Given the description of an element on the screen output the (x, y) to click on. 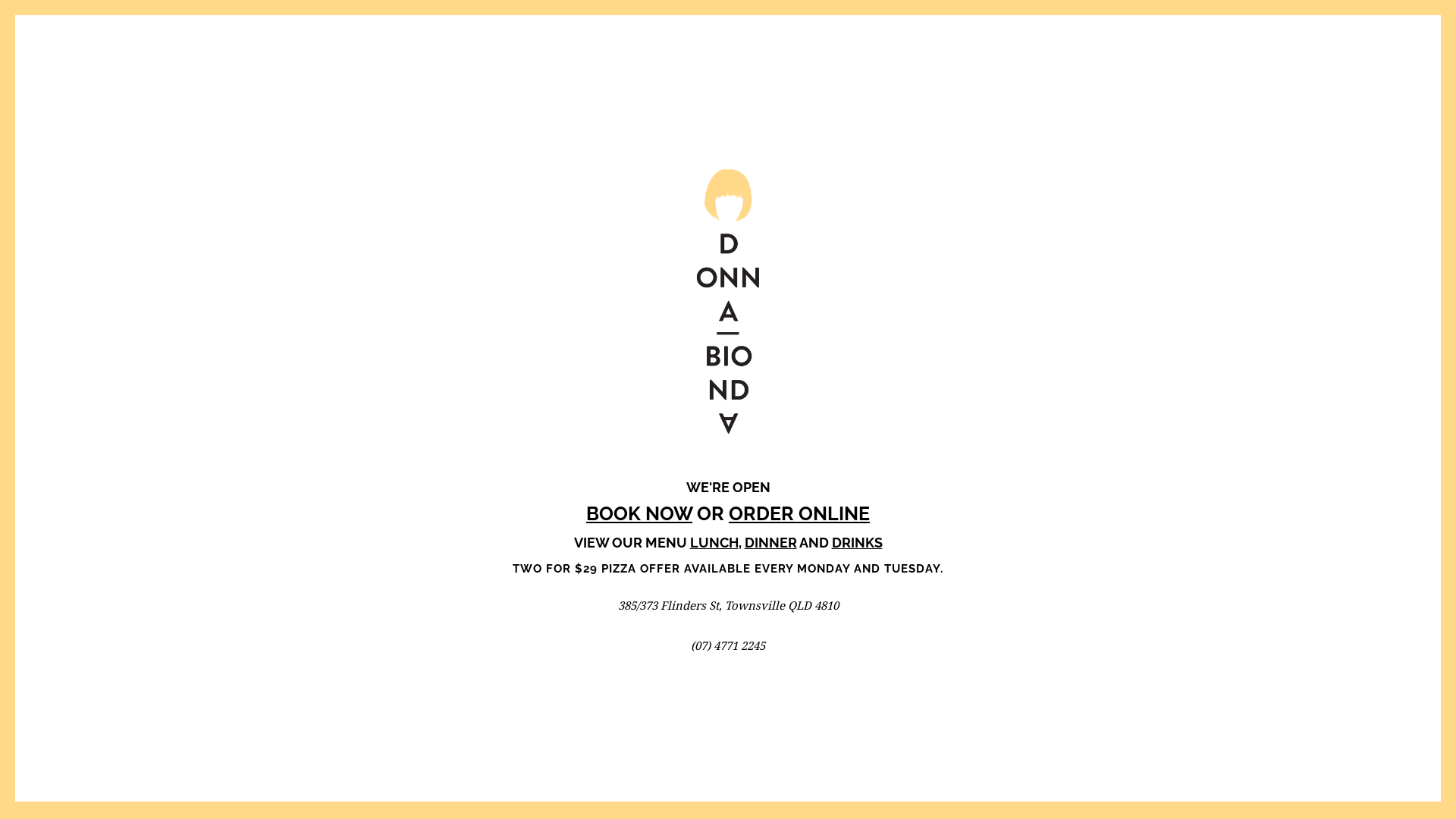
ORDER ONLINE Element type: text (798, 513)
DRINKS Element type: text (856, 541)
385/373 Flinders St, Townsville QLD 4810 Element type: text (727, 604)
LUNCH Element type: text (714, 541)
(07) 4771 2245 Element type: text (727, 644)
DINNER Element type: text (770, 541)
BOOK NOW Element type: text (639, 513)
